Given the description of an element on the screen output the (x, y) to click on. 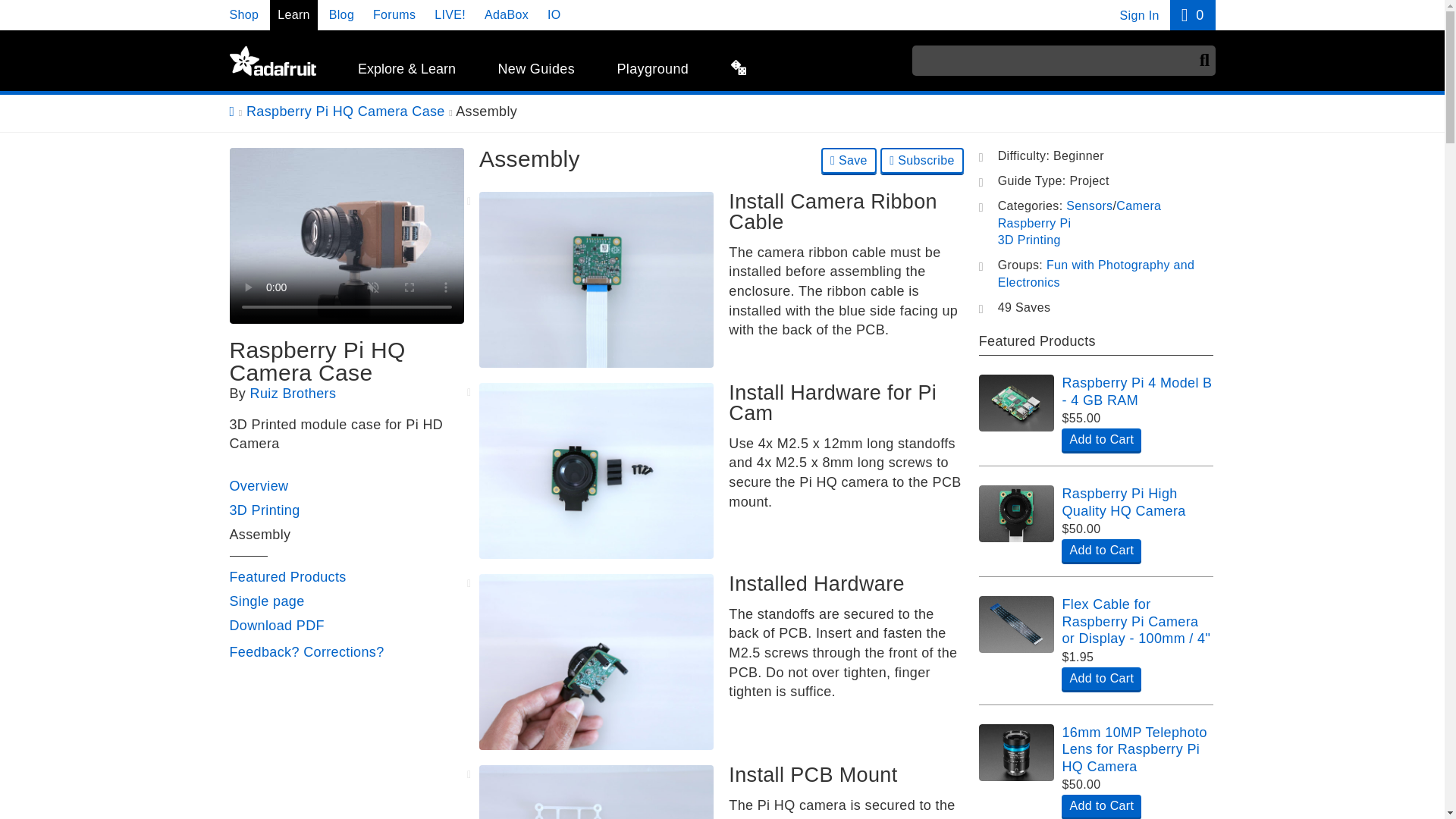
Sign In (1138, 15)
Blog (341, 14)
Learn (294, 14)
0 (1192, 14)
AdaBox (506, 14)
Feedback? Corrections? (306, 652)
Adafruit Learning System (271, 60)
Forums (393, 14)
Shop (243, 14)
LIVE! (449, 14)
IO (553, 14)
